Given the description of an element on the screen output the (x, y) to click on. 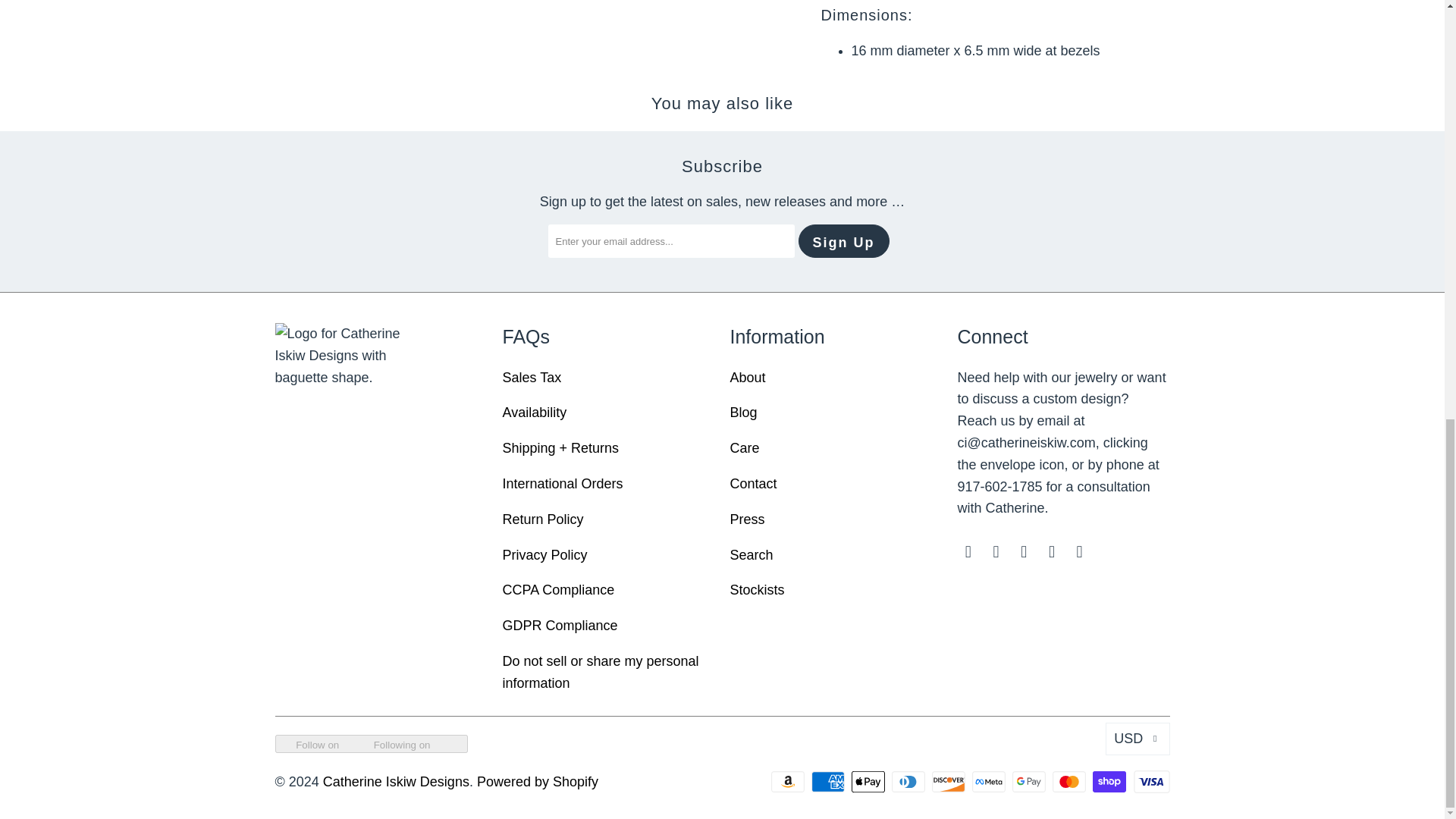
Mastercard (1070, 781)
Catherine Iskiw Designs on Pinterest (1079, 551)
Catherine Iskiw Designs on Facebook (996, 551)
Visa (1150, 781)
Diners Club (909, 781)
Discover (949, 781)
Meta Pay (990, 781)
Google Pay (1029, 781)
Catherine Iskiw Designs on Instagram (1024, 551)
Apple Pay (869, 781)
Amazon (789, 781)
Shop Pay (1111, 781)
Sign Up (842, 240)
American Express (828, 781)
Email Catherine Iskiw Designs (967, 551)
